Given the description of an element on the screen output the (x, y) to click on. 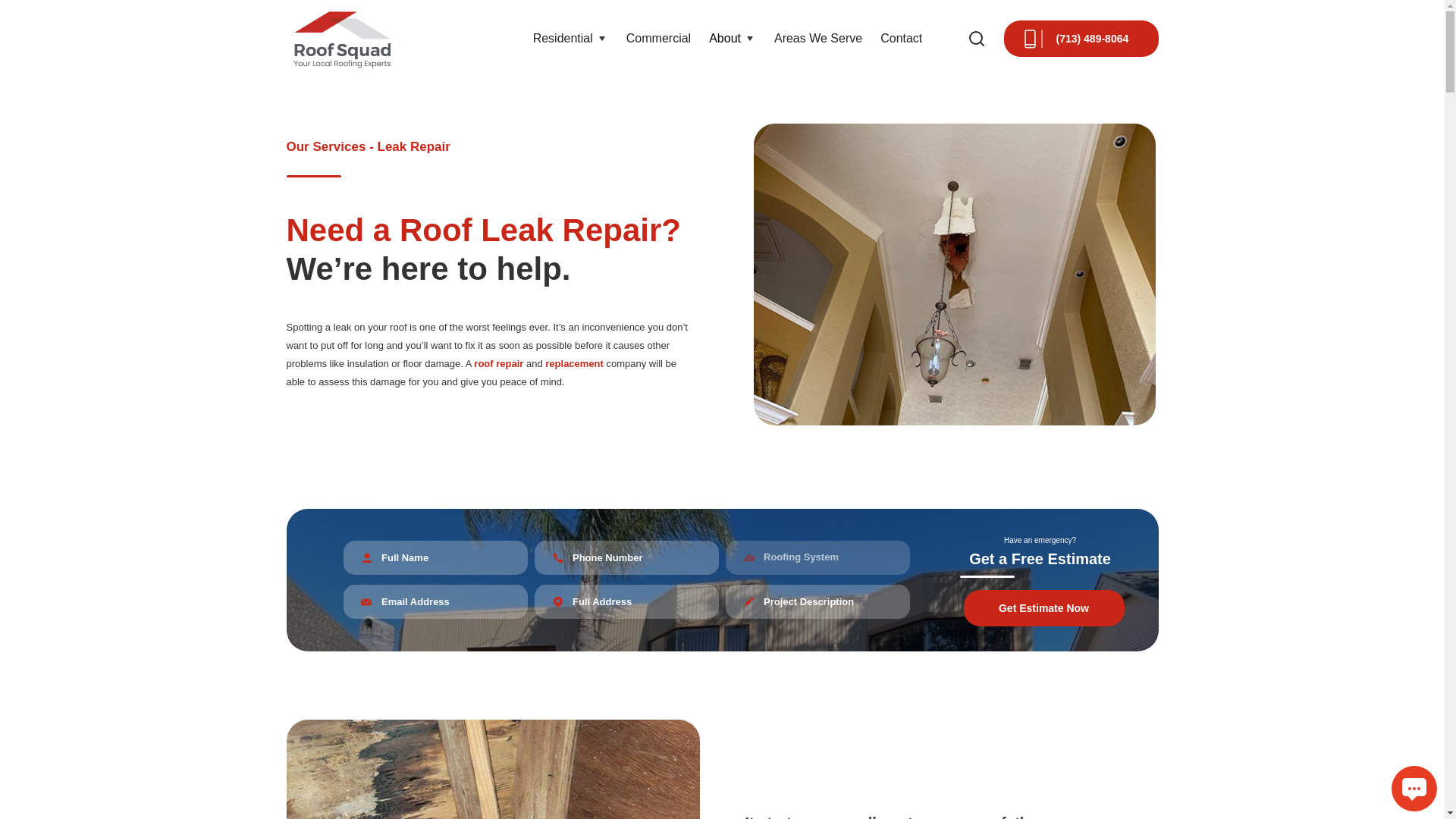
Commercial (658, 38)
Areas We Serve (817, 38)
Get Estimate Now (1043, 607)
About (725, 38)
Contact (900, 38)
